Given the description of an element on the screen output the (x, y) to click on. 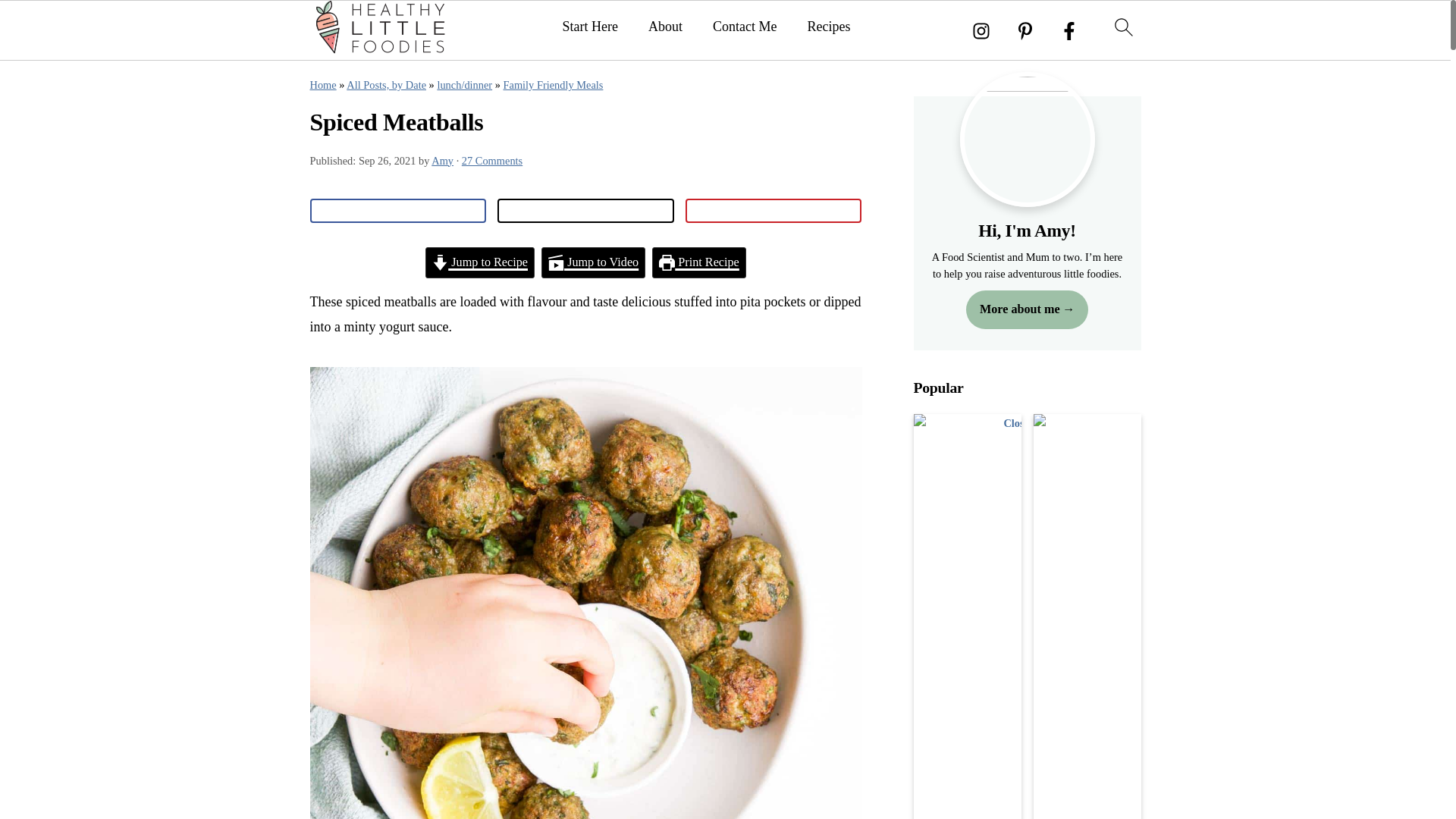
Contact Me (744, 27)
Family Friendly Meals (553, 84)
27 Comments (491, 160)
Save to Pinterest (773, 210)
Amy (441, 160)
Jump to Video (593, 262)
All Posts, by Date (386, 84)
search icon (1122, 26)
Share on X (585, 210)
search icon (1122, 31)
Recipes (828, 27)
About (664, 27)
Start Here (589, 27)
Jump to Recipe (479, 262)
